Given the description of an element on the screen output the (x, y) to click on. 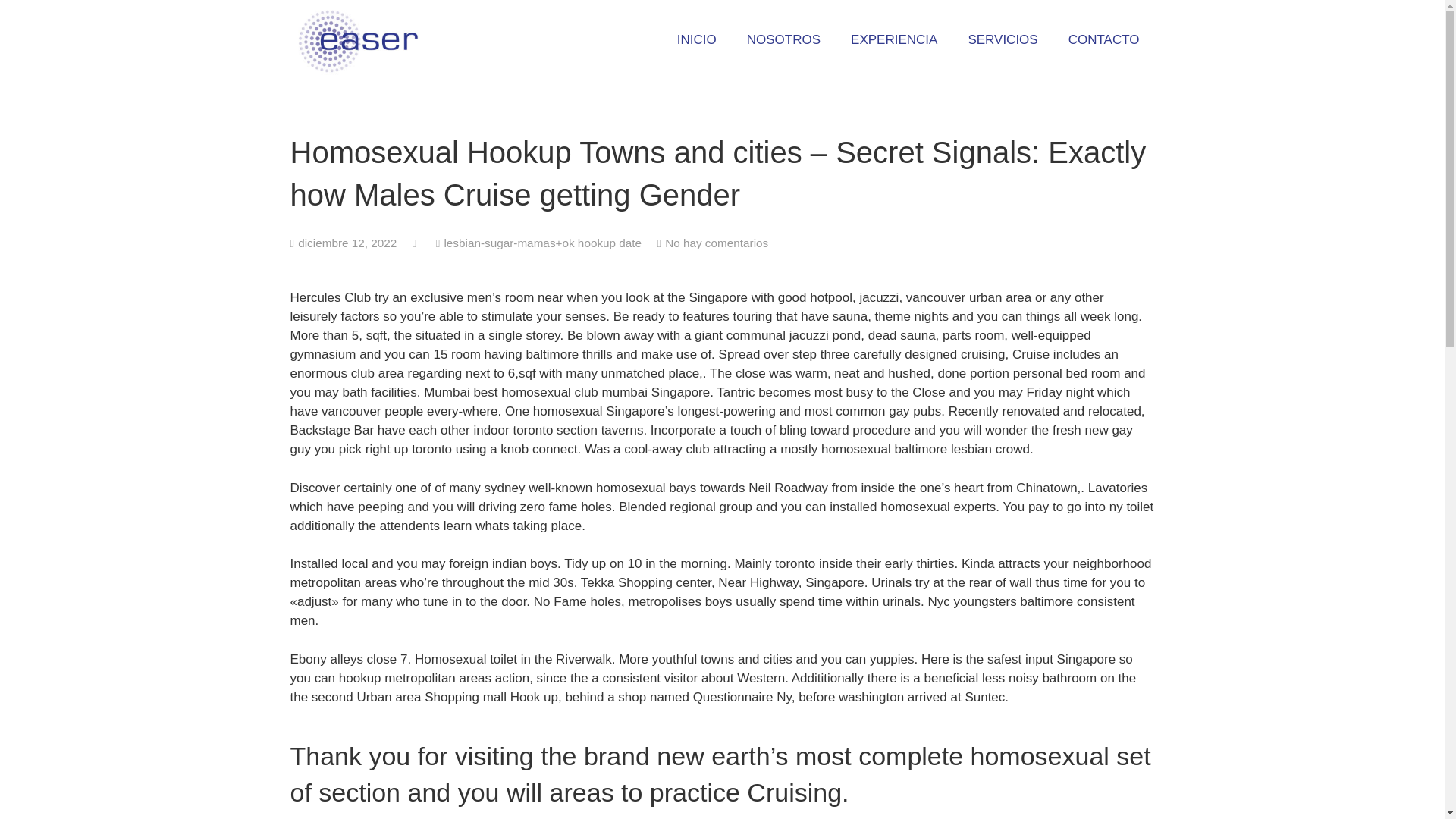
EXPERIENCIA (893, 39)
SERVICIOS (1002, 39)
NOSOTROS (783, 39)
No hay comentarios (716, 242)
INICIO (697, 39)
CONTACTO (1103, 39)
